Given the description of an element on the screen output the (x, y) to click on. 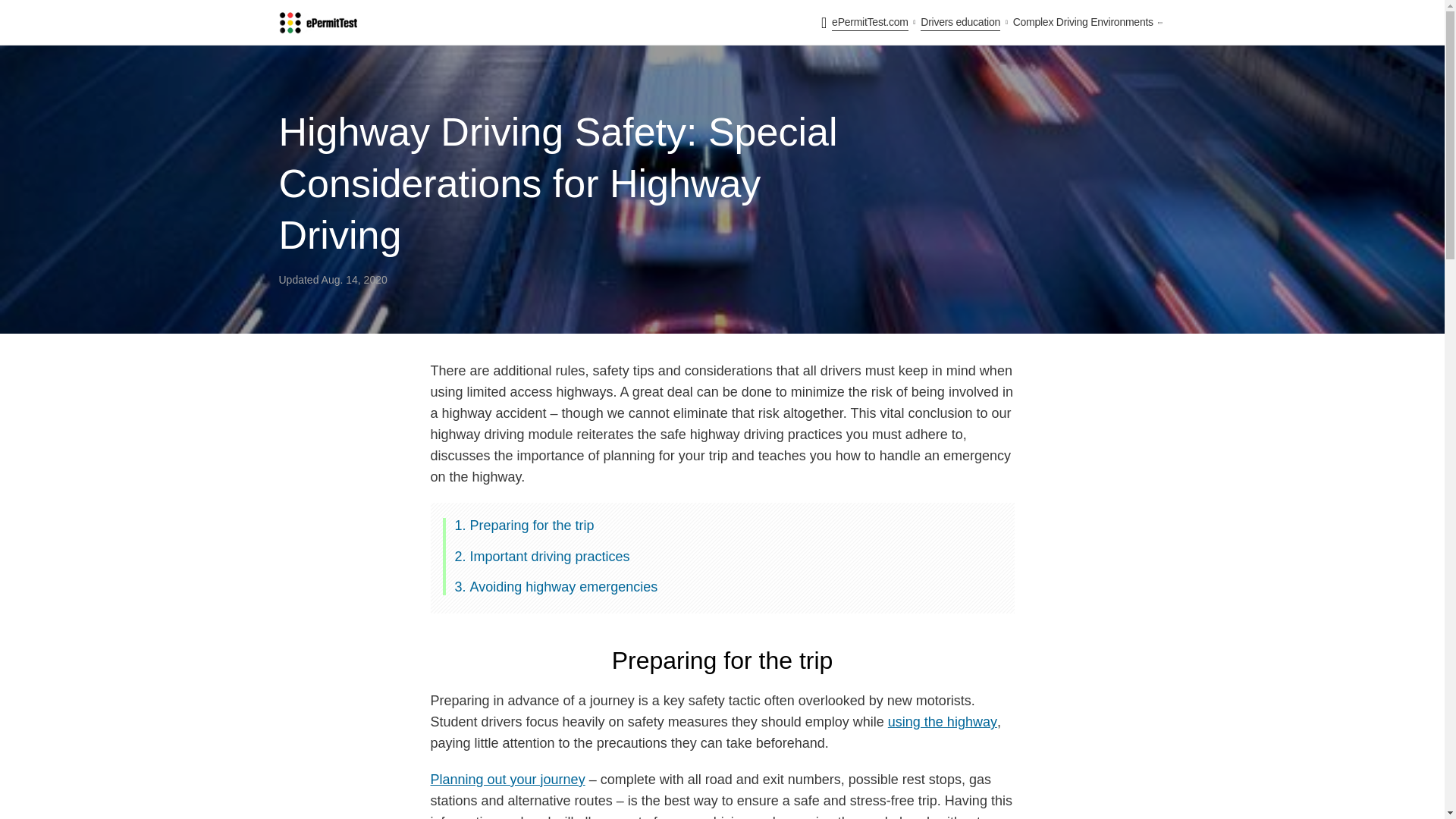
using the highway (942, 721)
Preparing for the trip (532, 525)
ePermittTest (317, 22)
Driving on Highways (942, 721)
Planning out your journey (507, 779)
Avoiding highway emergencies (564, 586)
ePermitTest.com (869, 22)
Drivers education (960, 22)
Planning Your Trip (507, 779)
ePermitTest.com (869, 22)
